Given the description of an element on the screen output the (x, y) to click on. 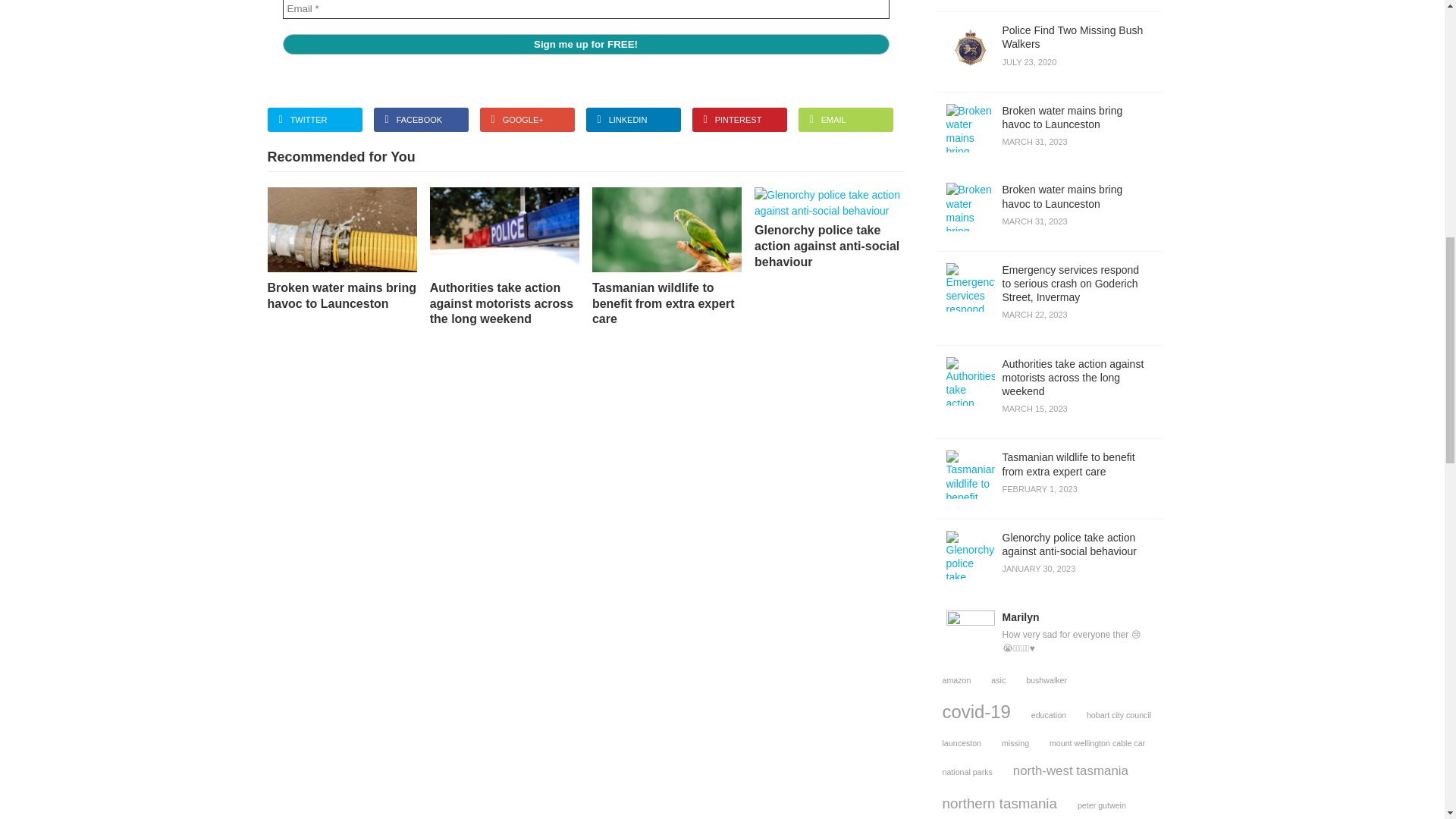
Email (585, 9)
TWITTER (313, 119)
EMAIL (844, 119)
LINKEDIN (632, 119)
Broken water mains bring havoc to Launceston (341, 249)
FACEBOOK (419, 119)
Tasmanian wildlife to benefit from extra expert care (1047, 131)
